Given the description of an element on the screen output the (x, y) to click on. 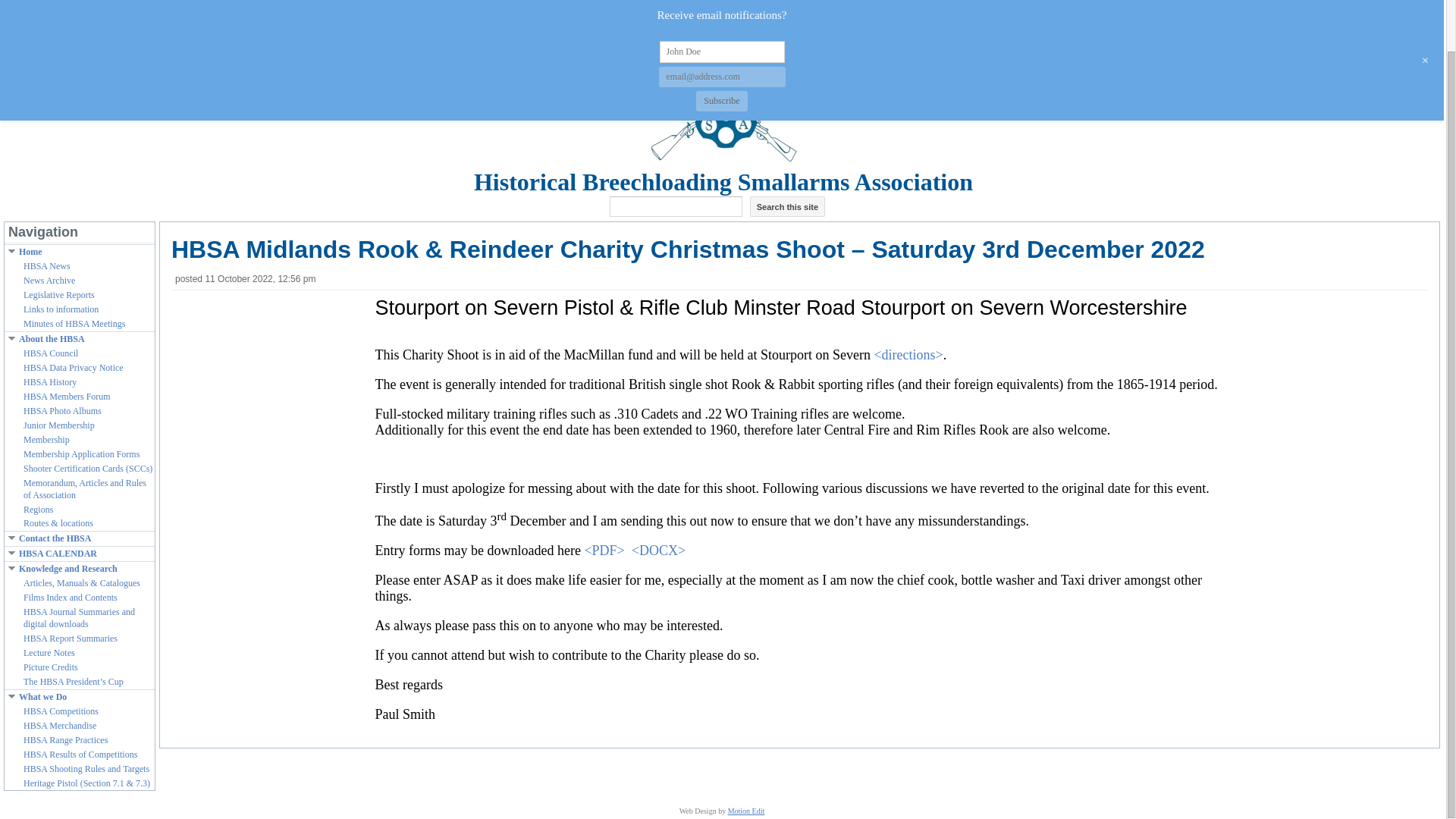
Minutes of HBSA Meetings (88, 324)
Subscribe (720, 46)
News Archive (88, 281)
HBSA Competitions (88, 711)
HBSA CALENDAR (86, 553)
HBSA Photo Albums (88, 411)
Membership (88, 440)
Memorandum, Articles and Rules of Association (88, 489)
About the HBSA (86, 339)
Membership Application Forms (88, 454)
Picture Credits (88, 667)
Home (86, 252)
Lecture Notes (88, 653)
HBSA Merchandise (88, 726)
What we Do (86, 697)
